Given the description of an element on the screen output the (x, y) to click on. 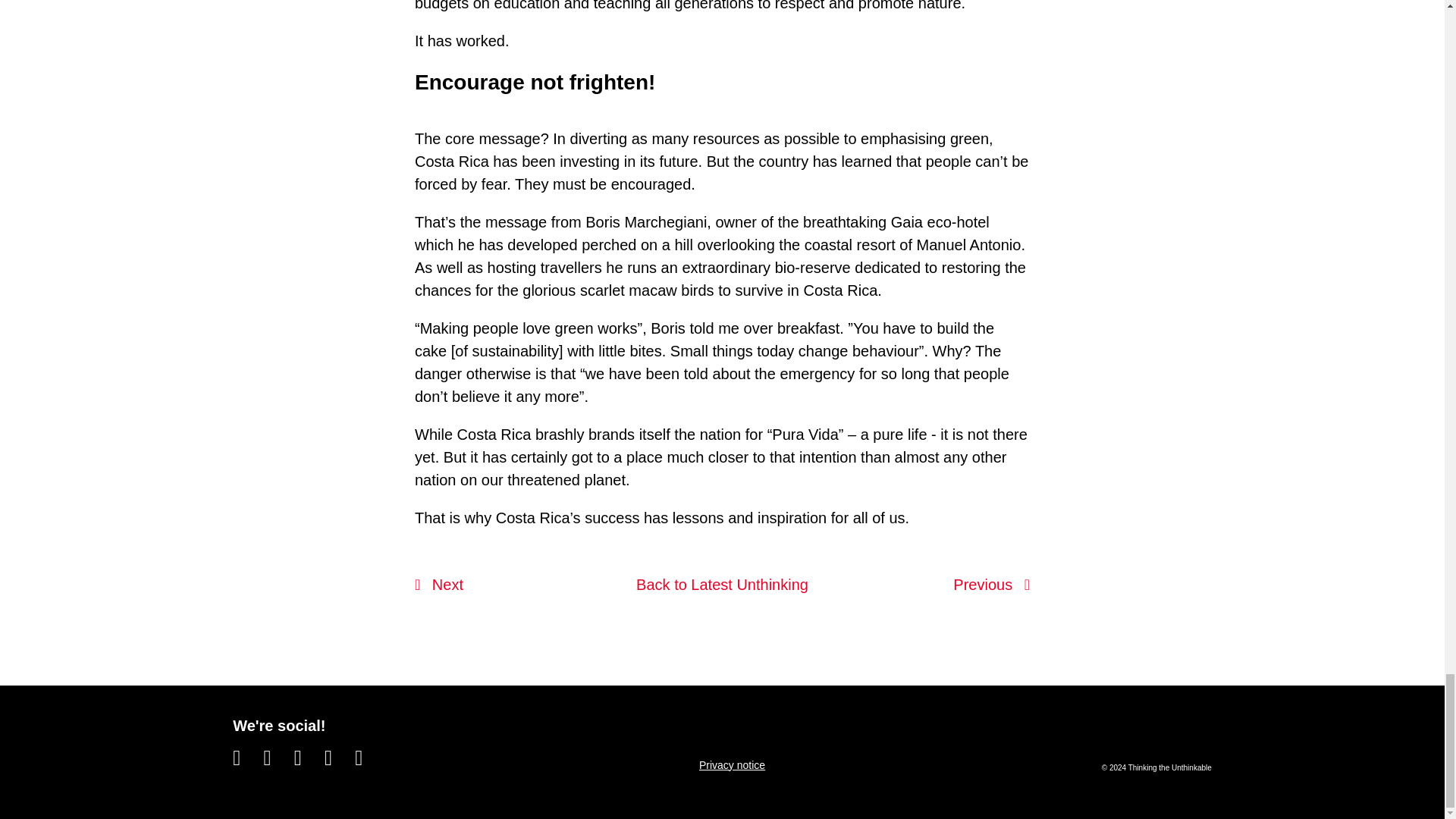
Next (438, 584)
Privacy notice (731, 765)
Previous (991, 584)
Back to Latest Unthinking (722, 584)
